Given the description of an element on the screen output the (x, y) to click on. 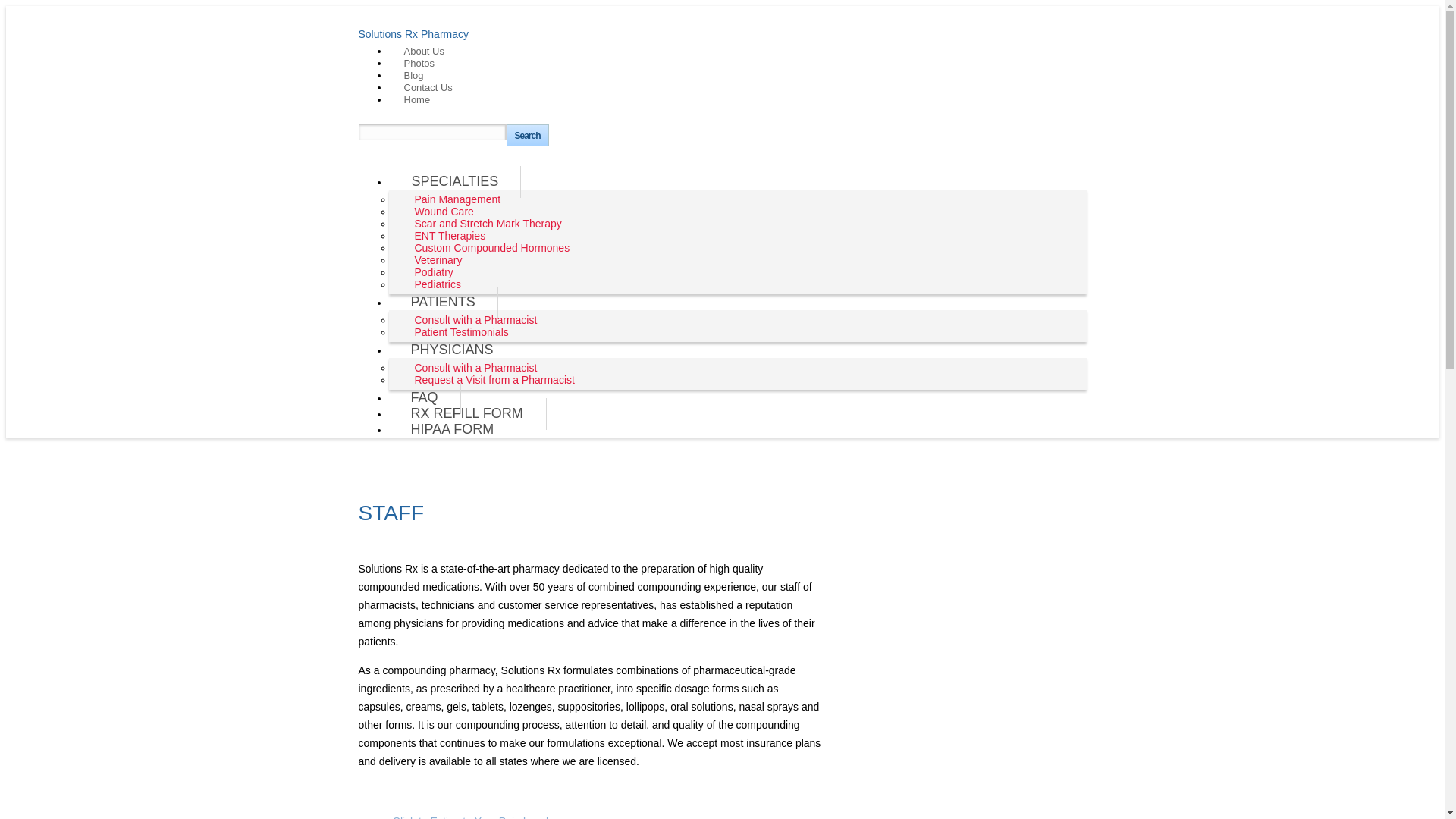
Consult with a Pharmacist (470, 320)
Pediatrics (470, 801)
RX REFILL FORM (432, 285)
Scar and Stretch Mark Therapy (467, 413)
Photos (483, 224)
ENT Therapies (413, 63)
PHYSICIANS (445, 235)
Custom Compounded Hormones (451, 350)
Pain Management (486, 248)
